Given the description of an element on the screen output the (x, y) to click on. 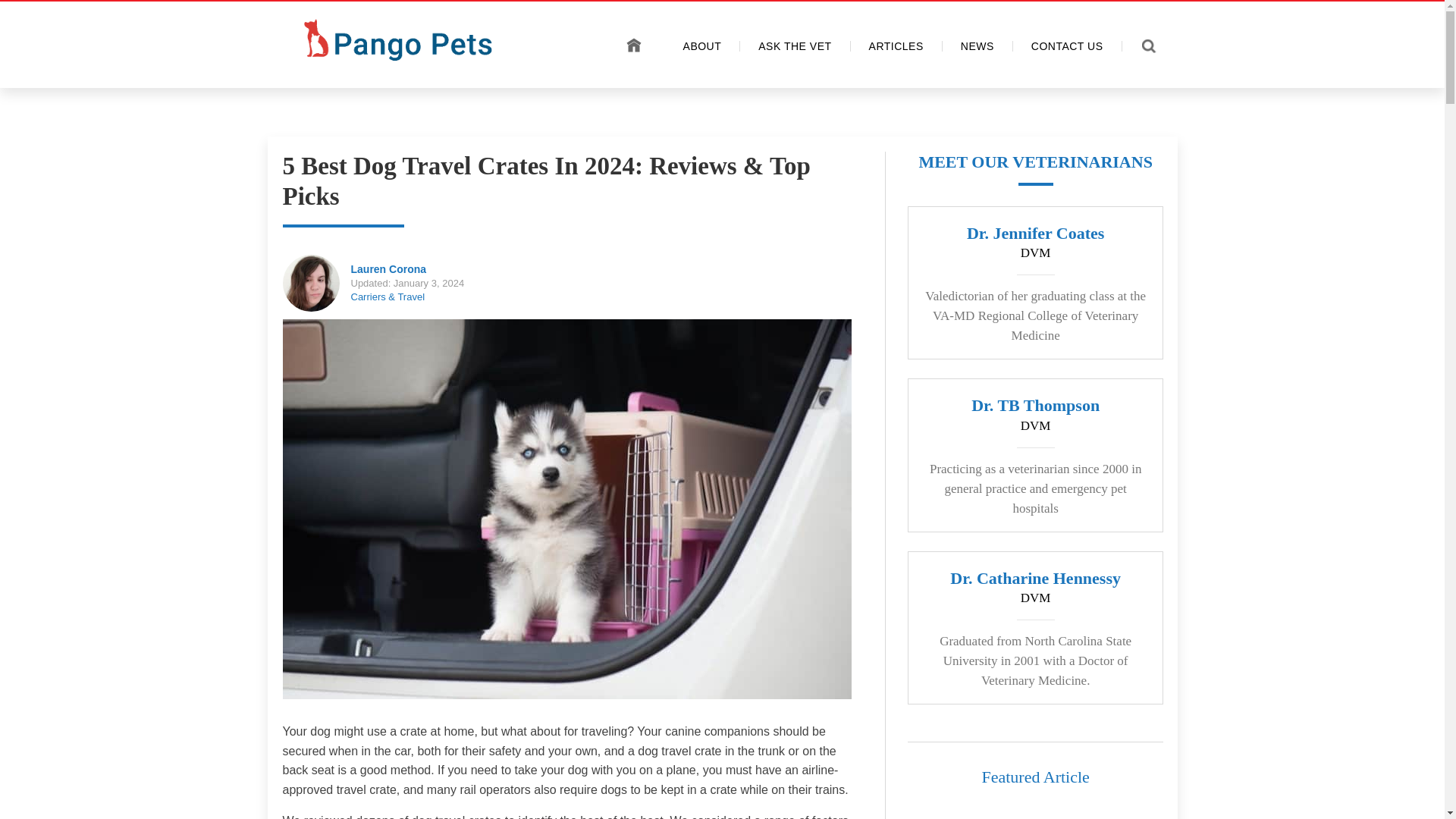
Articles (896, 45)
Home (634, 44)
CONTACT US (1067, 45)
ASK THE VET (794, 45)
Lauren Corona (388, 268)
Search (29, 14)
NEWS (977, 45)
Search for: (1153, 47)
Ask The Vet (794, 45)
News (977, 45)
ABOUT (703, 45)
About (703, 45)
HOME (634, 44)
Contact us (1067, 45)
ARTICLES (896, 45)
